Given the description of an element on the screen output the (x, y) to click on. 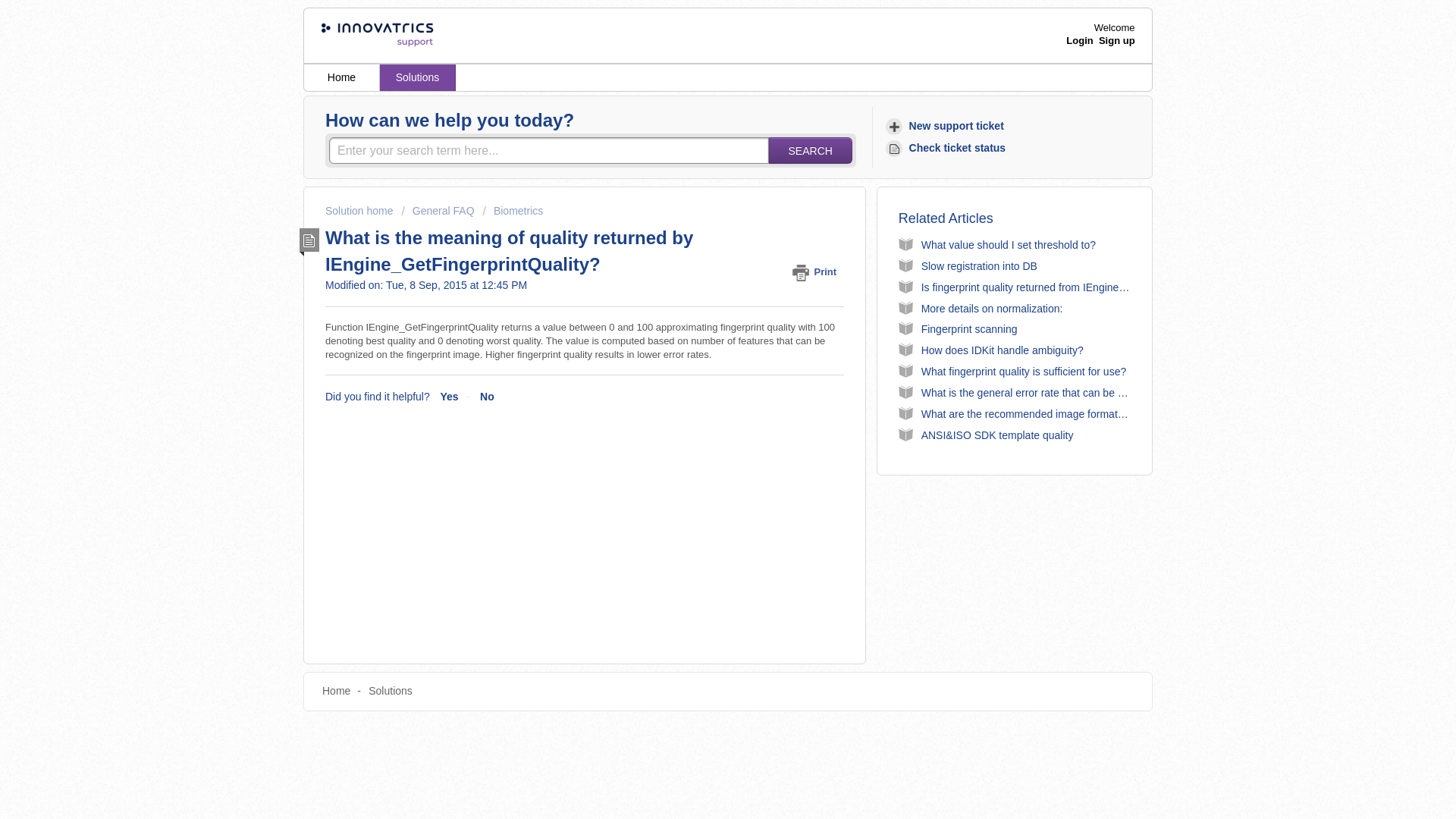
Check ticket status (947, 147)
New support ticket (946, 126)
Print this Article (818, 271)
Solutions (390, 690)
SEARCH (809, 150)
Fingerprint scanning (969, 328)
Biometrics (512, 210)
How does IDKit handle ambiguity? (1002, 349)
Solution home (360, 210)
What value should I set threshold to? (1008, 244)
